Given the description of an element on the screen output the (x, y) to click on. 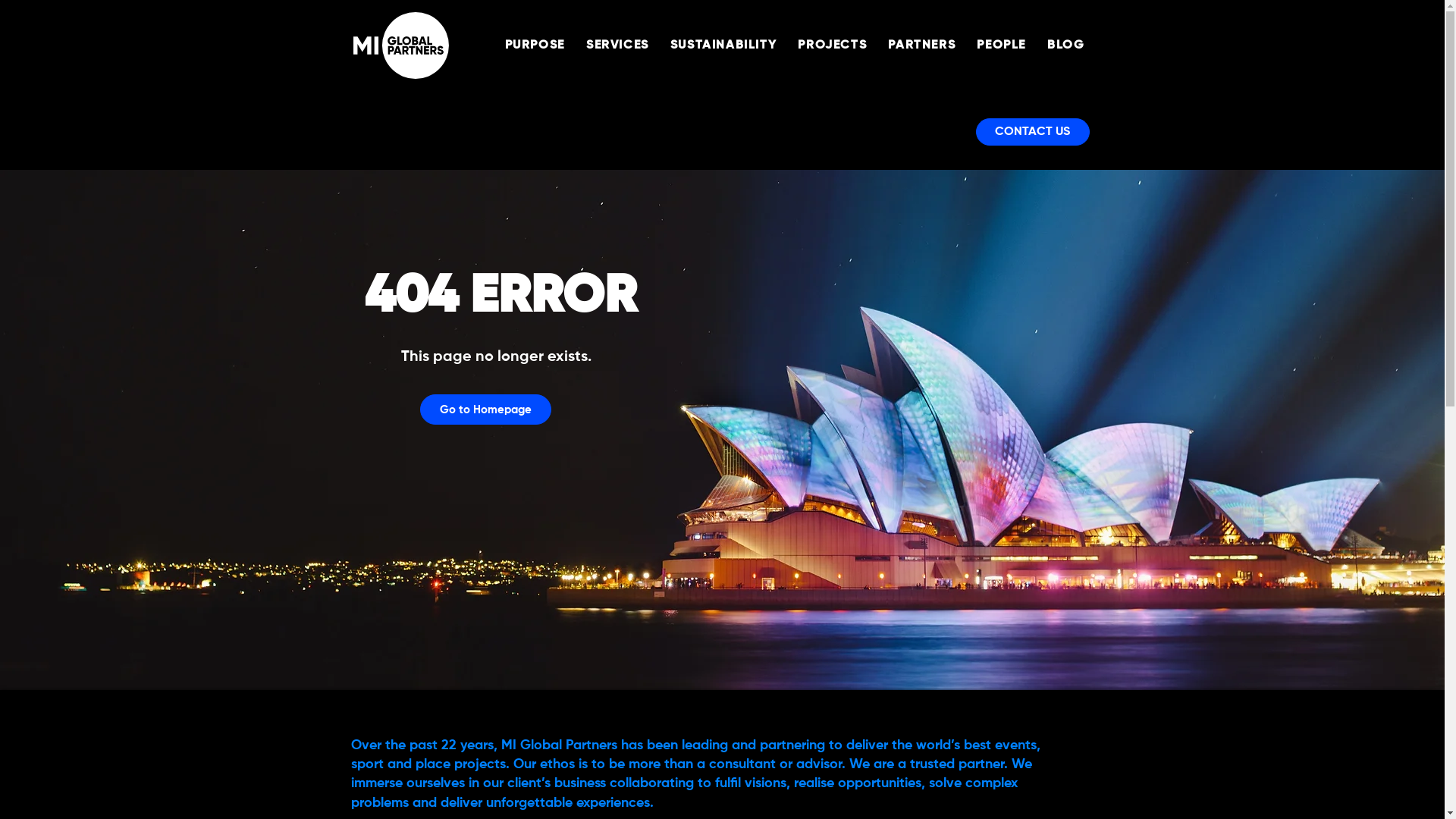
PURPOSE Element type: text (534, 46)
BLOG Element type: text (1065, 46)
SUSTAINABILITY Element type: text (723, 46)
SERVICES Element type: text (617, 46)
PARTNERS Element type: text (921, 46)
PEOPLE Element type: text (1001, 46)
PROJECTS Element type: text (832, 46)
Go to Homepage Element type: text (485, 409)
CONTACT US Element type: text (1031, 131)
